Given the description of an element on the screen output the (x, y) to click on. 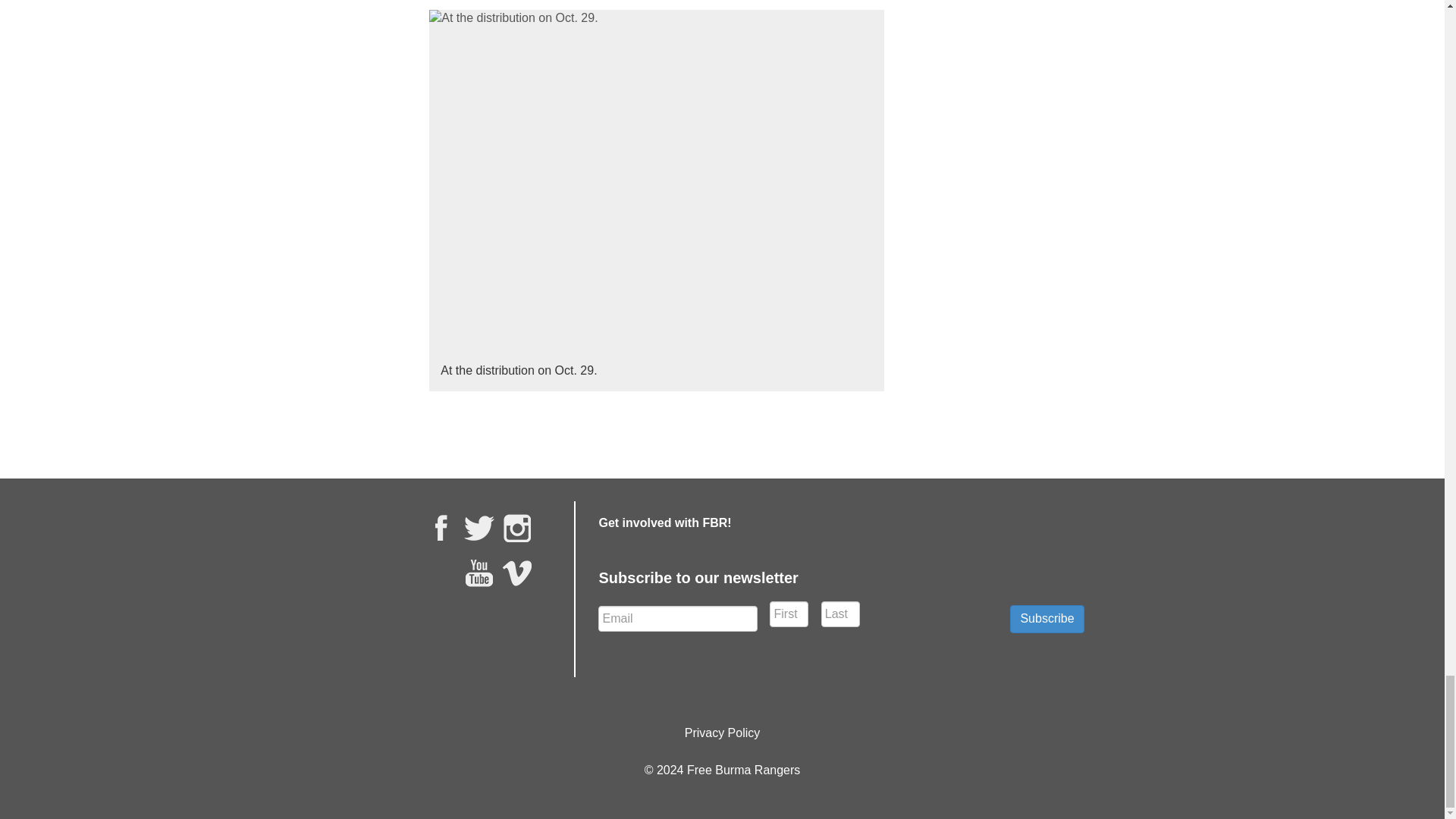
Subscribe (1046, 619)
Free Burma RangersInstagram (517, 527)
Free Burma RangersFacebook (441, 527)
Free Burma RangersYouTube (479, 572)
Free Burma RangersVimeo (517, 572)
Free Burma RangersTwitter (479, 527)
